Given the description of an element on the screen output the (x, y) to click on. 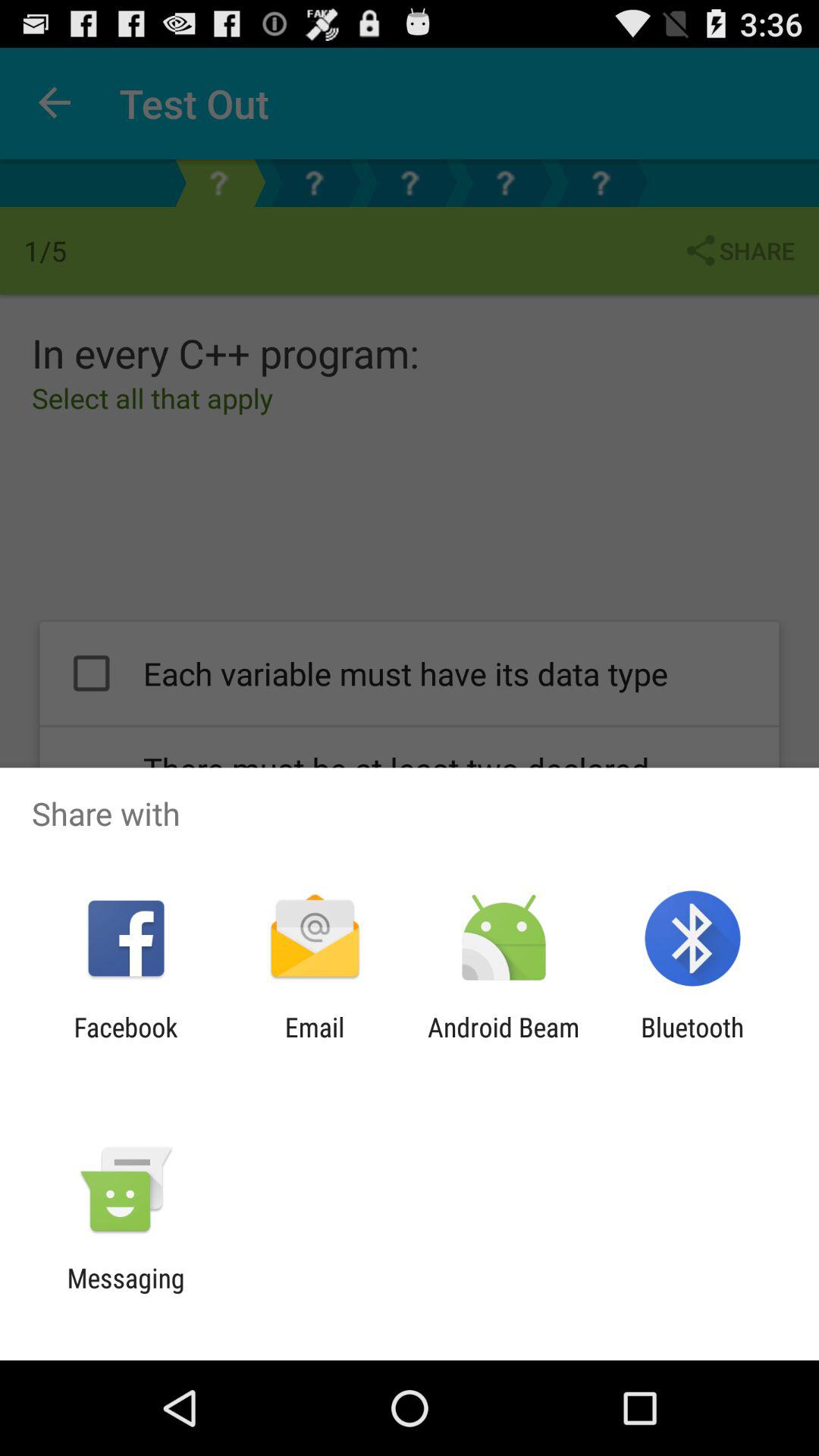
jump to messaging app (125, 1293)
